Given the description of an element on the screen output the (x, y) to click on. 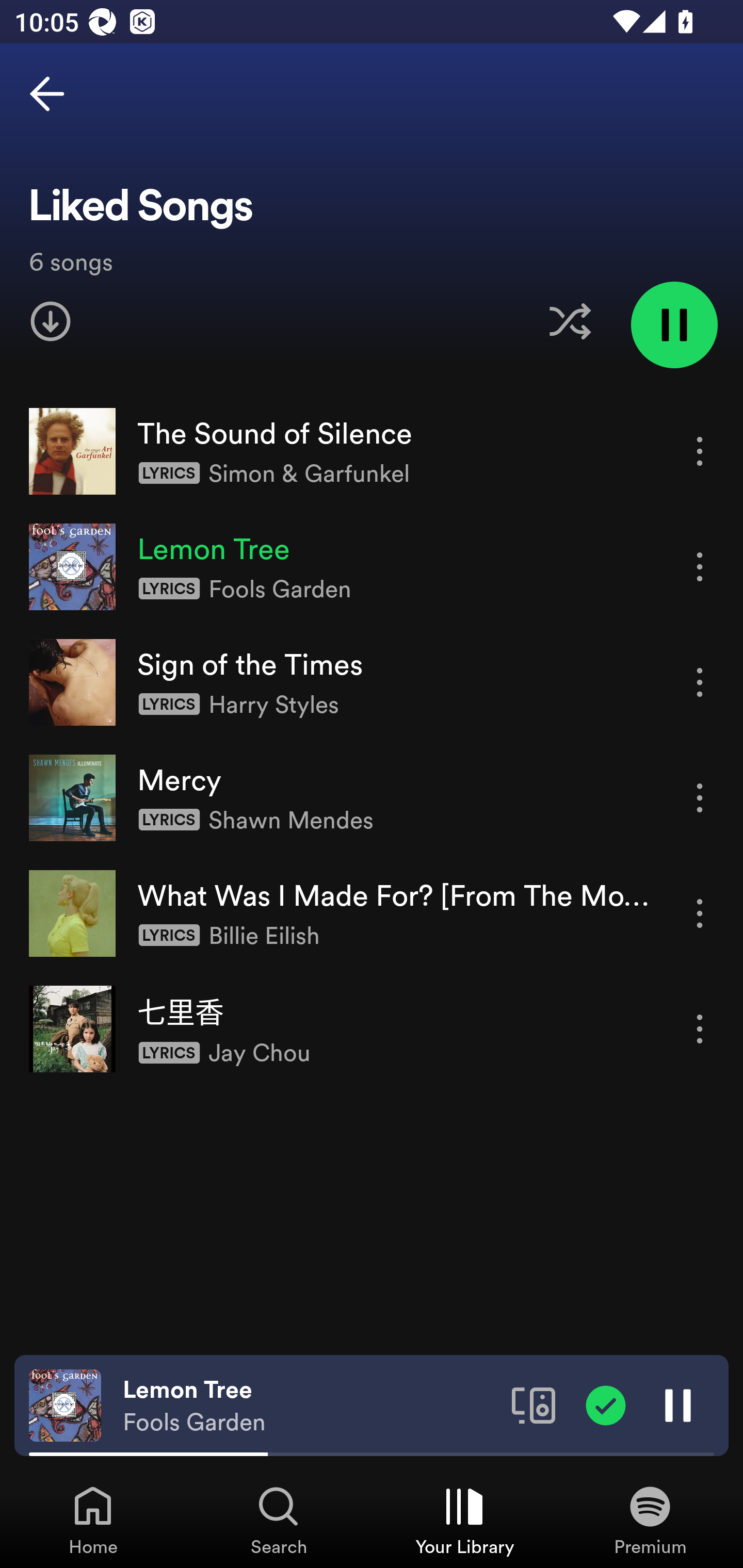
Back (46, 93)
Download (50, 321)
Enable shuffle for this liked songs (569, 321)
Pause liked songs (674, 324)
More options for song The Sound of Silence (699, 450)
More options for song Lemon Tree (699, 566)
More options for song Sign of the Times (699, 682)
More options for song Mercy (699, 798)
七里香 More options for song 七里香 Lyrics Jay Chou (371, 1028)
More options for song 七里香 (699, 1029)
Lemon Tree Fools Garden (309, 1405)
The cover art of the currently playing track (64, 1404)
Connect to a device. Opens the devices menu (533, 1404)
Item added (605, 1404)
Pause (677, 1404)
Home, Tab 1 of 4 Home Home (92, 1519)
Search, Tab 2 of 4 Search Search (278, 1519)
Your Library, Tab 3 of 4 Your Library Your Library (464, 1519)
Premium, Tab 4 of 4 Premium Premium (650, 1519)
